Given the description of an element on the screen output the (x, y) to click on. 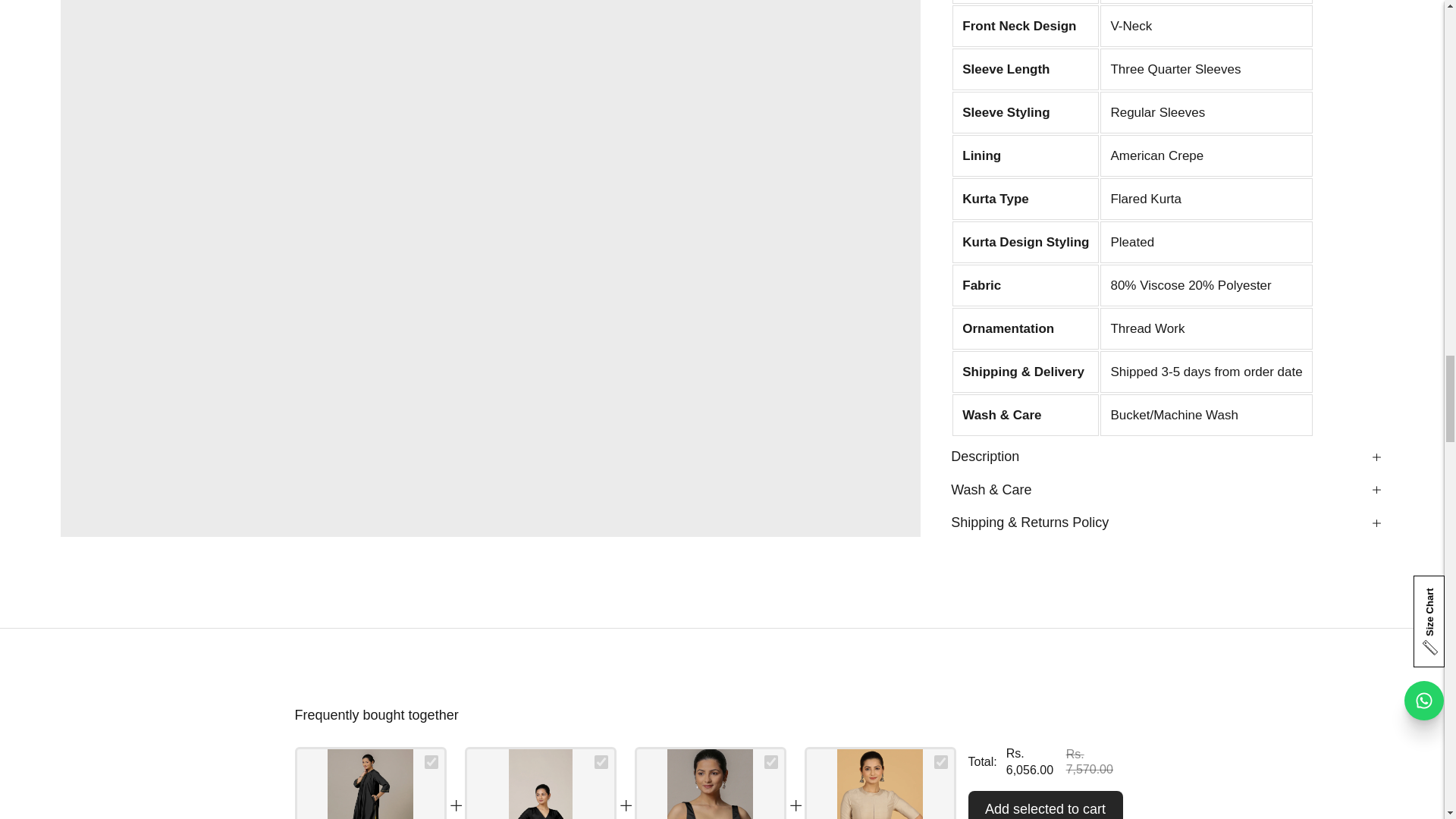
on (601, 762)
on (770, 762)
on (431, 762)
on (940, 762)
